Given the description of an element on the screen output the (x, y) to click on. 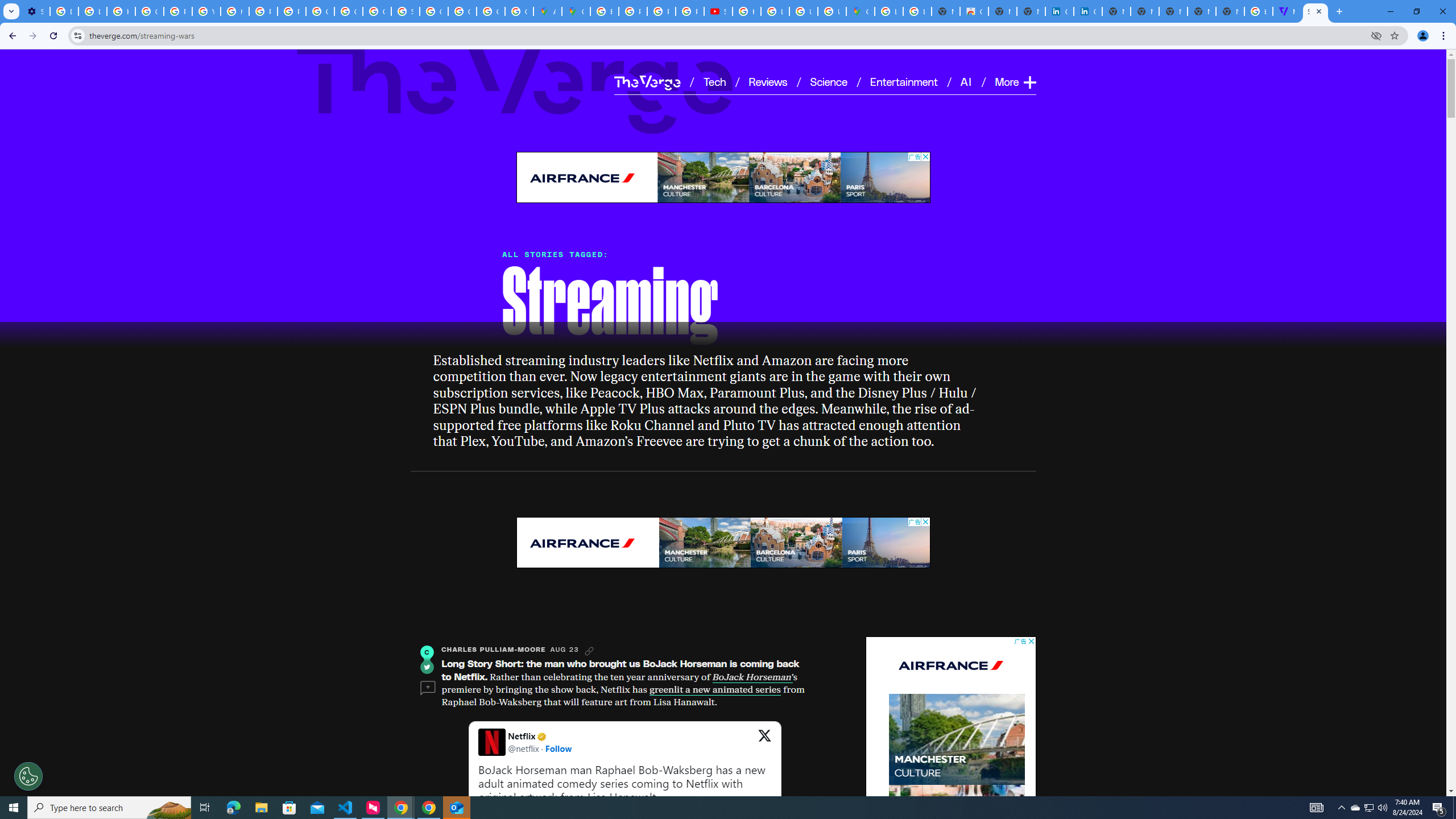
More Expand (1015, 81)
Verified account (541, 736)
YouTube (206, 11)
The Verge homepage The Verge (646, 81)
AI (966, 81)
Learn how to find your photos - Google Photos Help (92, 11)
Sign in - Google Accounts (405, 11)
Follow (558, 748)
